Given the description of an element on the screen output the (x, y) to click on. 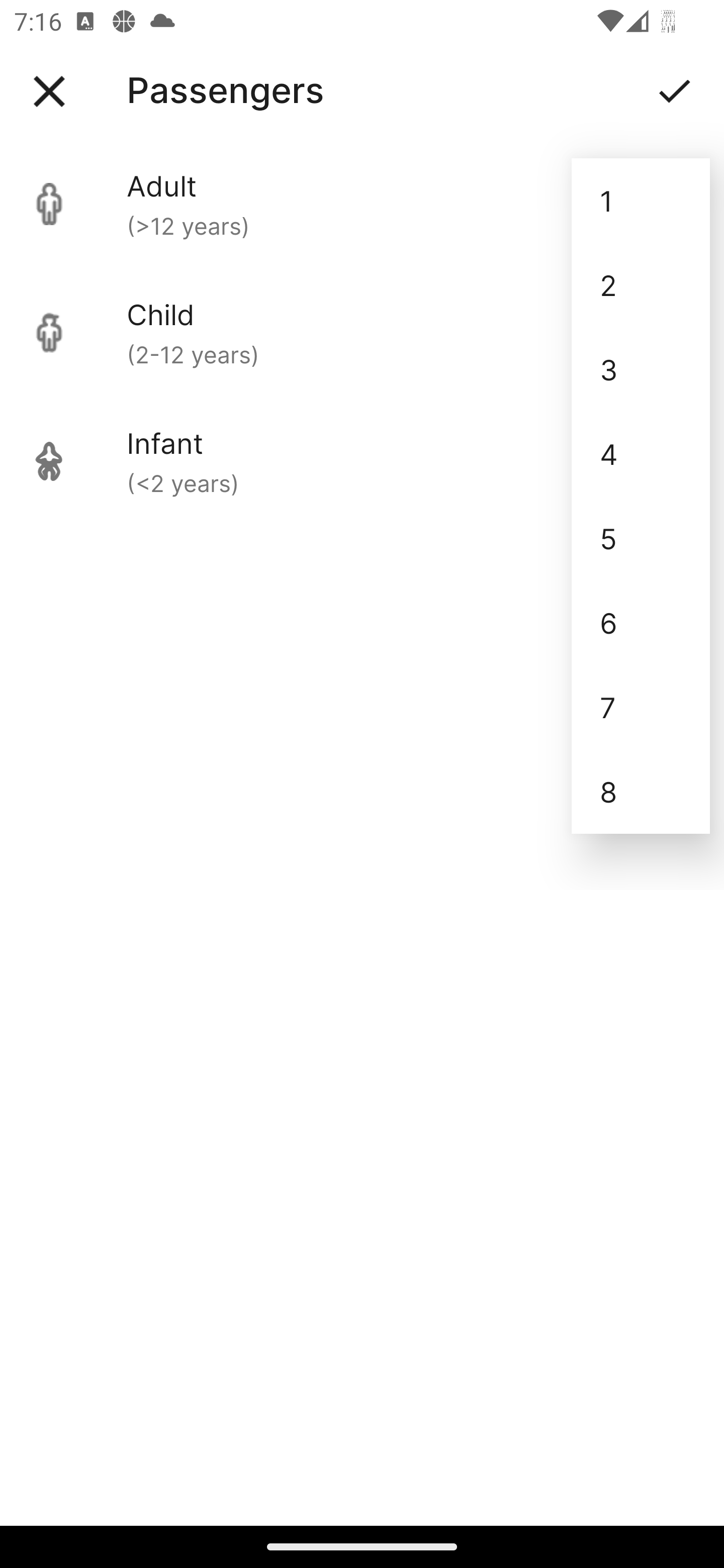
1 (640, 200)
2 (640, 285)
3 (640, 368)
4 (640, 452)
5 (640, 537)
6 (640, 622)
7 (640, 706)
8 (640, 791)
